Given the description of an element on the screen output the (x, y) to click on. 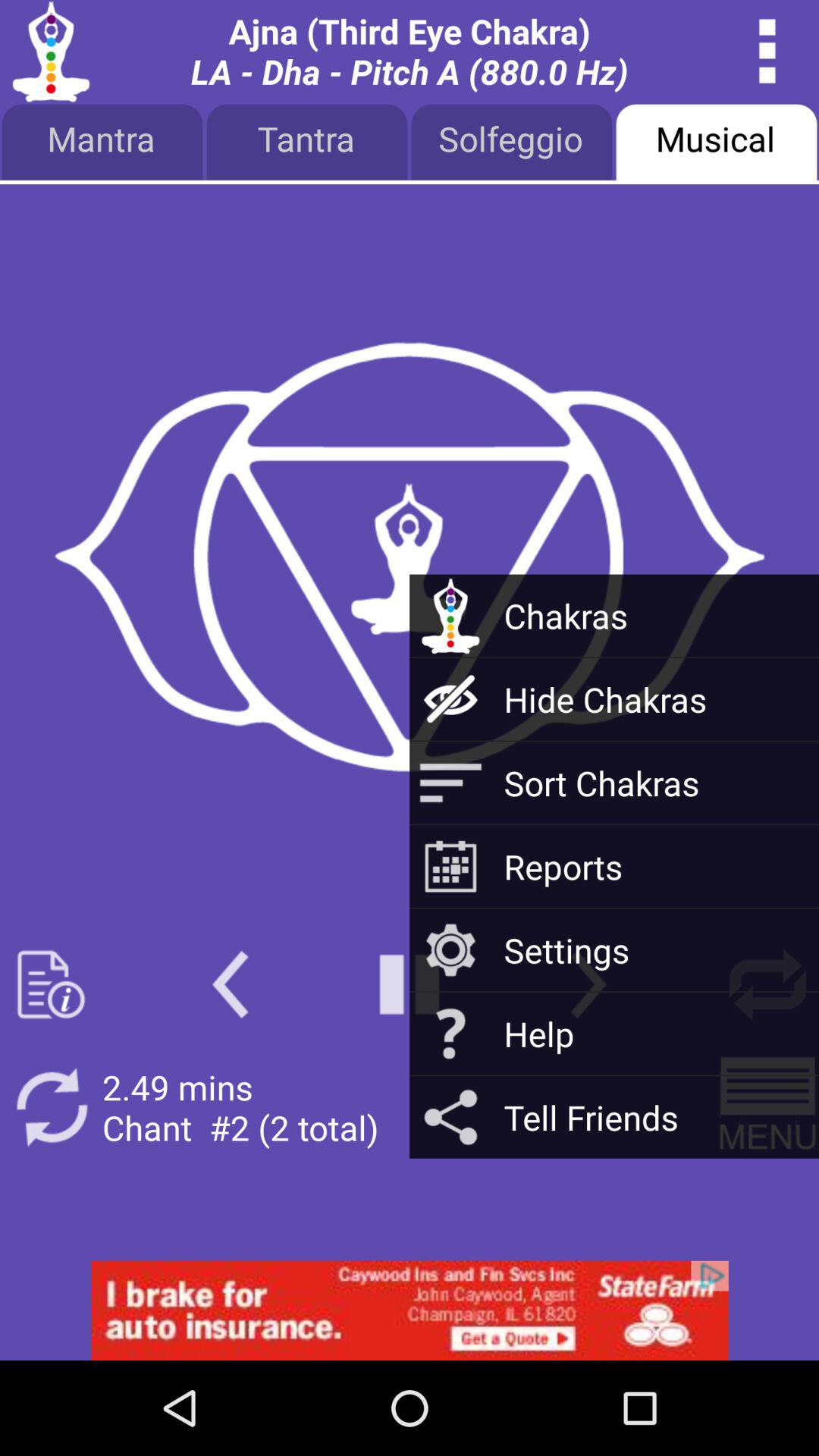
see more options (767, 51)
